Given the description of an element on the screen output the (x, y) to click on. 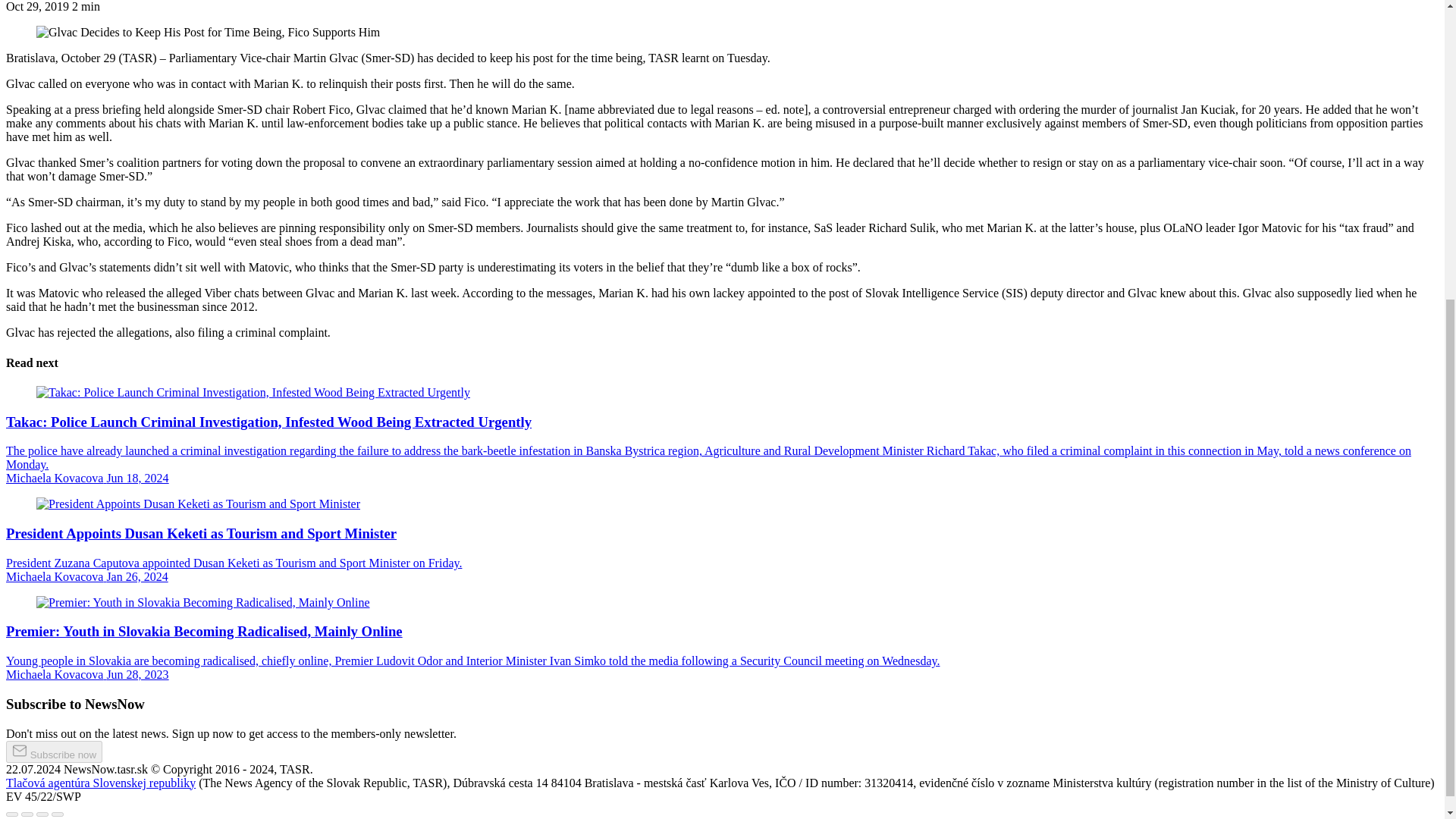
Toggle fullscreen (42, 814)
Share (27, 814)
Subscribe now (53, 751)
